Given the description of an element on the screen output the (x, y) to click on. 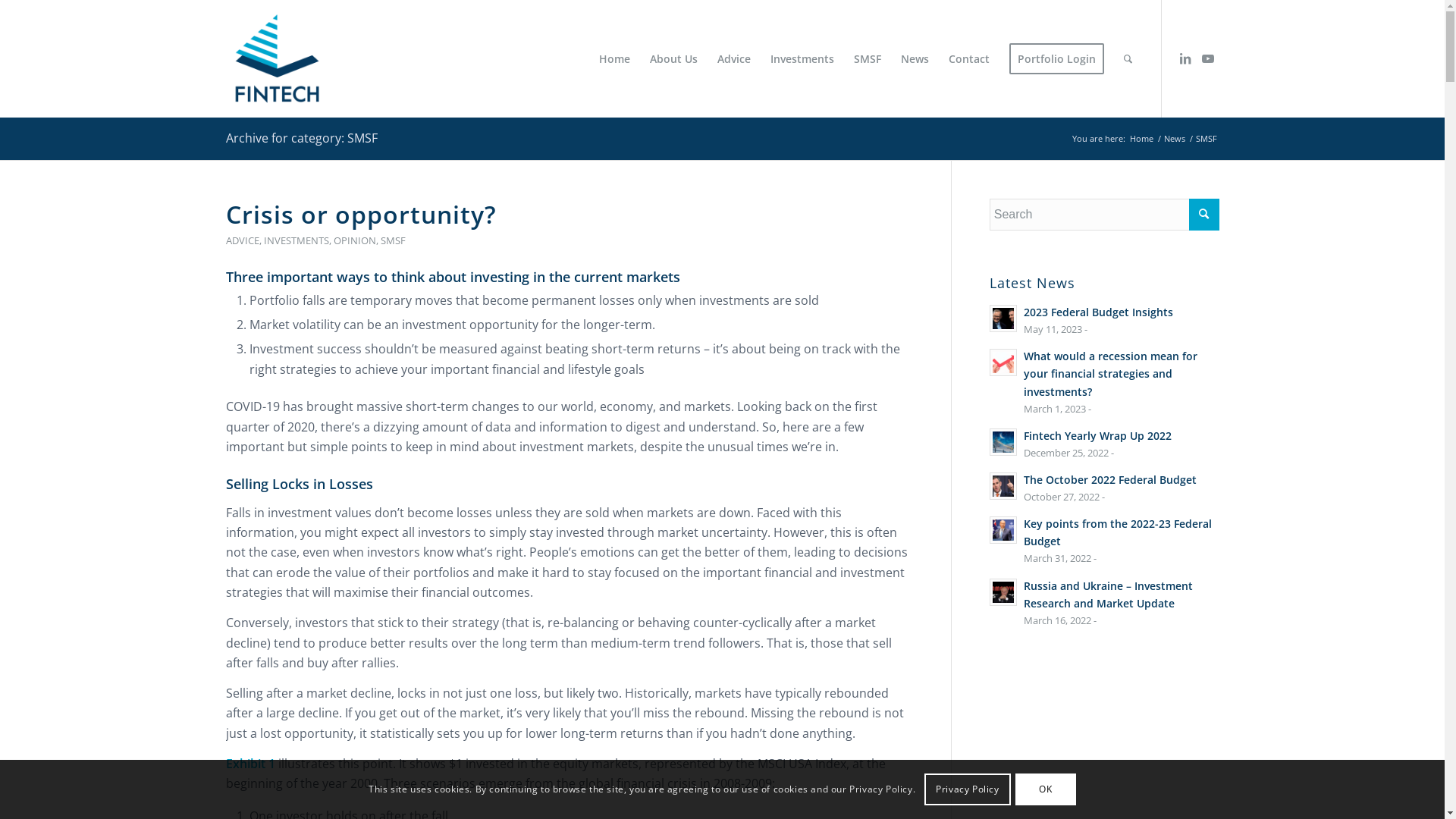
Portfolio Login Element type: text (1056, 58)
LinkedIn Element type: hover (1184, 58)
Read: 2023 Federal Budget Insights Element type: hover (1002, 318)
Archive for category: SMSF Element type: text (301, 137)
OK Element type: text (1045, 789)
Read: Key points from the 2022-23 Federal Budget Element type: hover (1002, 529)
SMSF Element type: text (392, 240)
Fintech Yearly Wrap Up 2022 Element type: text (1097, 435)
News Element type: text (1174, 138)
OPINION Element type: text (354, 240)
Contact Element type: text (968, 58)
INVESTMENTS Element type: text (296, 240)
News Element type: text (914, 58)
Advice Element type: text (732, 58)
Home Element type: text (1140, 138)
SMSF Element type: text (866, 58)
ADVICE Element type: text (242, 240)
Privacy Policy Element type: text (967, 789)
The October 2022 Federal Budget Element type: text (1109, 479)
Home Element type: text (613, 58)
Read: The October 2022 Federal Budget Element type: hover (1002, 485)
Key points from the 2022-23 Federal Budget Element type: text (1117, 532)
About Us Element type: text (673, 58)
Youtube Element type: hover (1207, 58)
Crisis or opportunity? Element type: text (360, 213)
Read: Fintech Yearly Wrap Up 2022 Element type: hover (1002, 441)
2023 Federal Budget Insights Element type: text (1098, 311)
Investments Element type: text (801, 58)
